Given the description of an element on the screen output the (x, y) to click on. 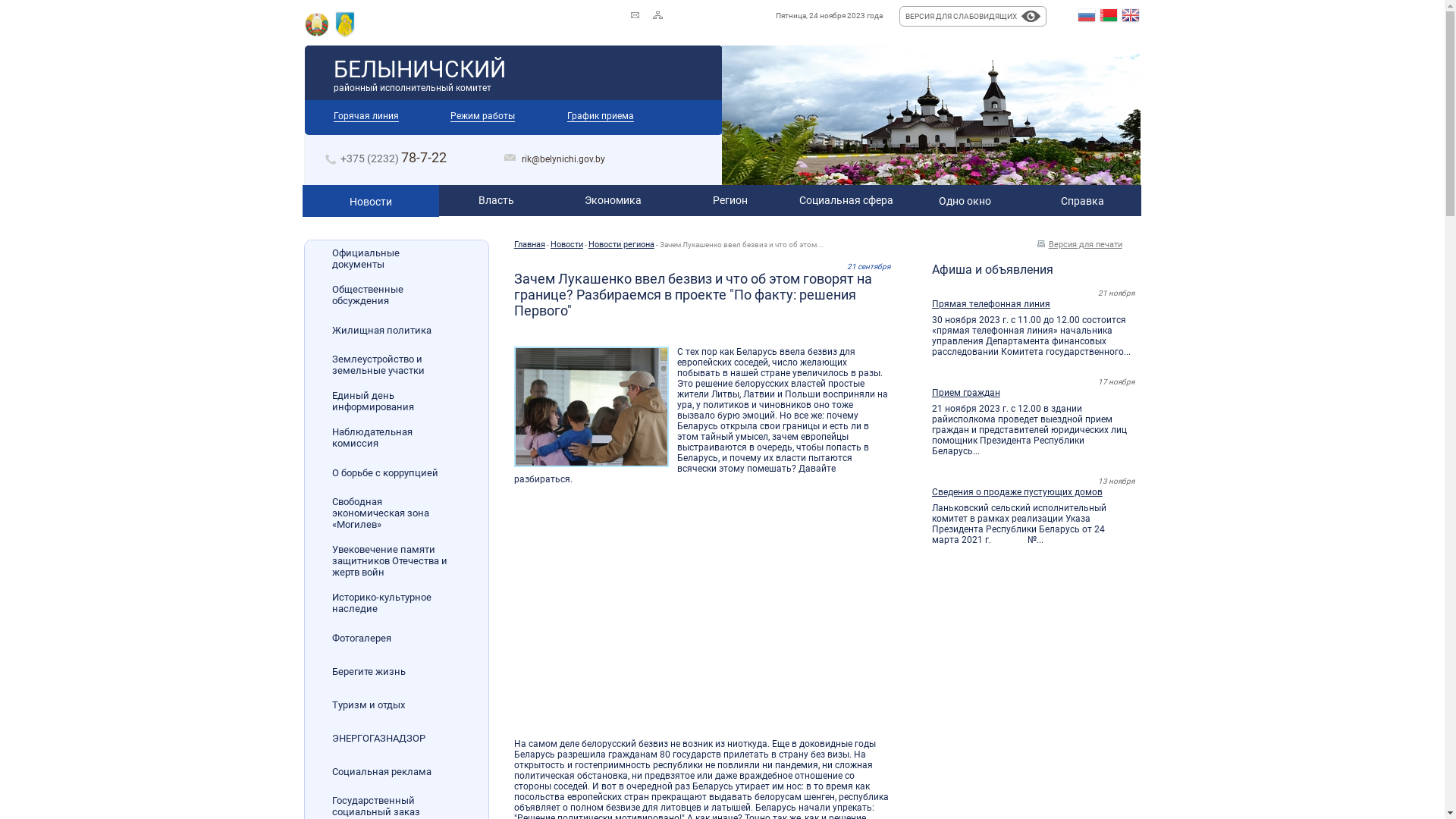
rik@belynichi.gov.by Element type: text (563, 158)
YouTube video player Element type: hover (726, 618)
English Element type: hover (1130, 15)
